Given the description of an element on the screen output the (x, y) to click on. 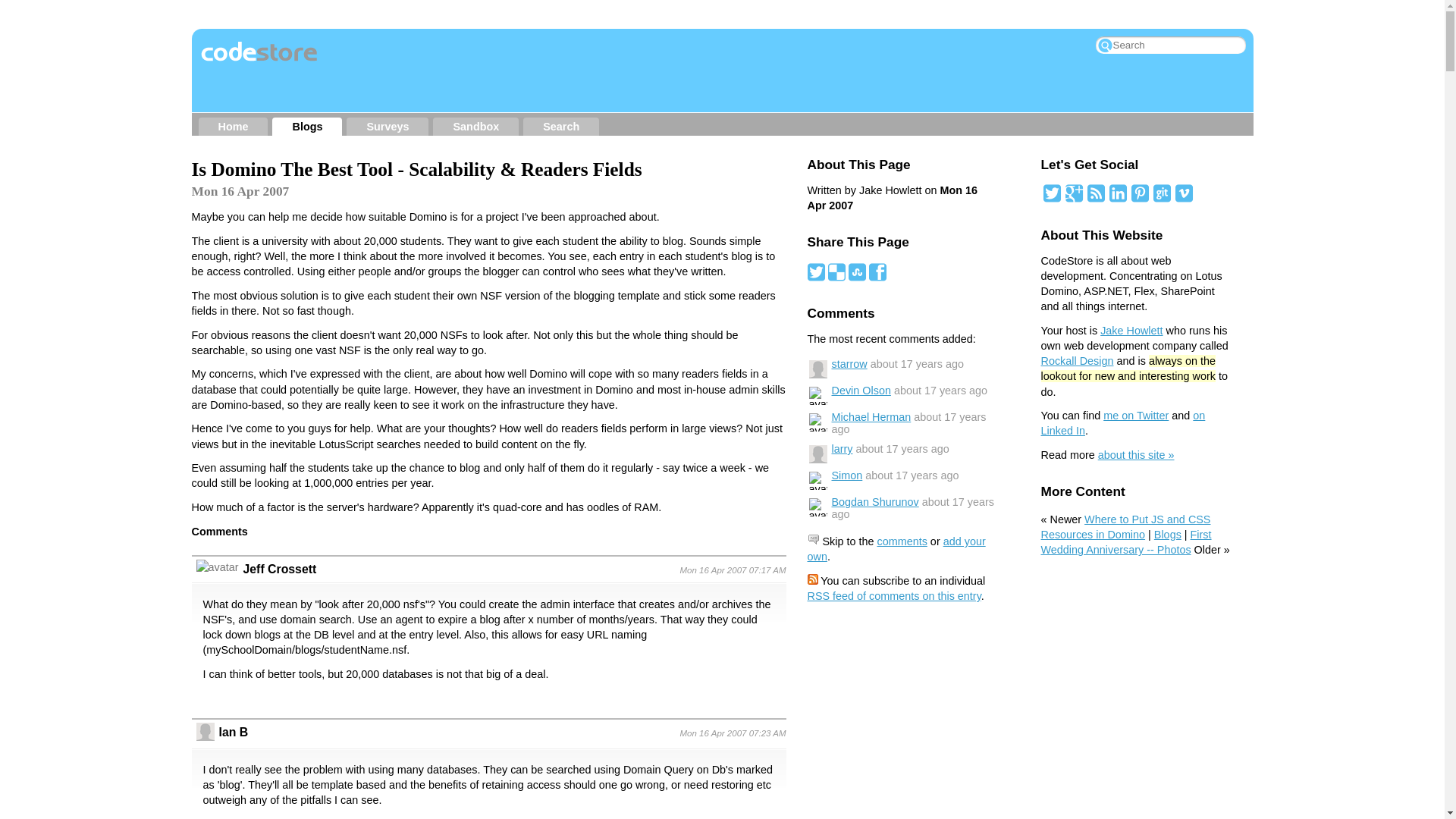
Home (233, 126)
Perform an advanced search of the archives (560, 126)
Home page (233, 126)
Read the regularly updated weblog (306, 126)
Sandbox (475, 126)
Blogs (306, 126)
Search (560, 126)
Latest surveys on codestore (387, 126)
List of sample databases available for download (475, 126)
Surveys (387, 126)
